Given the description of an element on the screen output the (x, y) to click on. 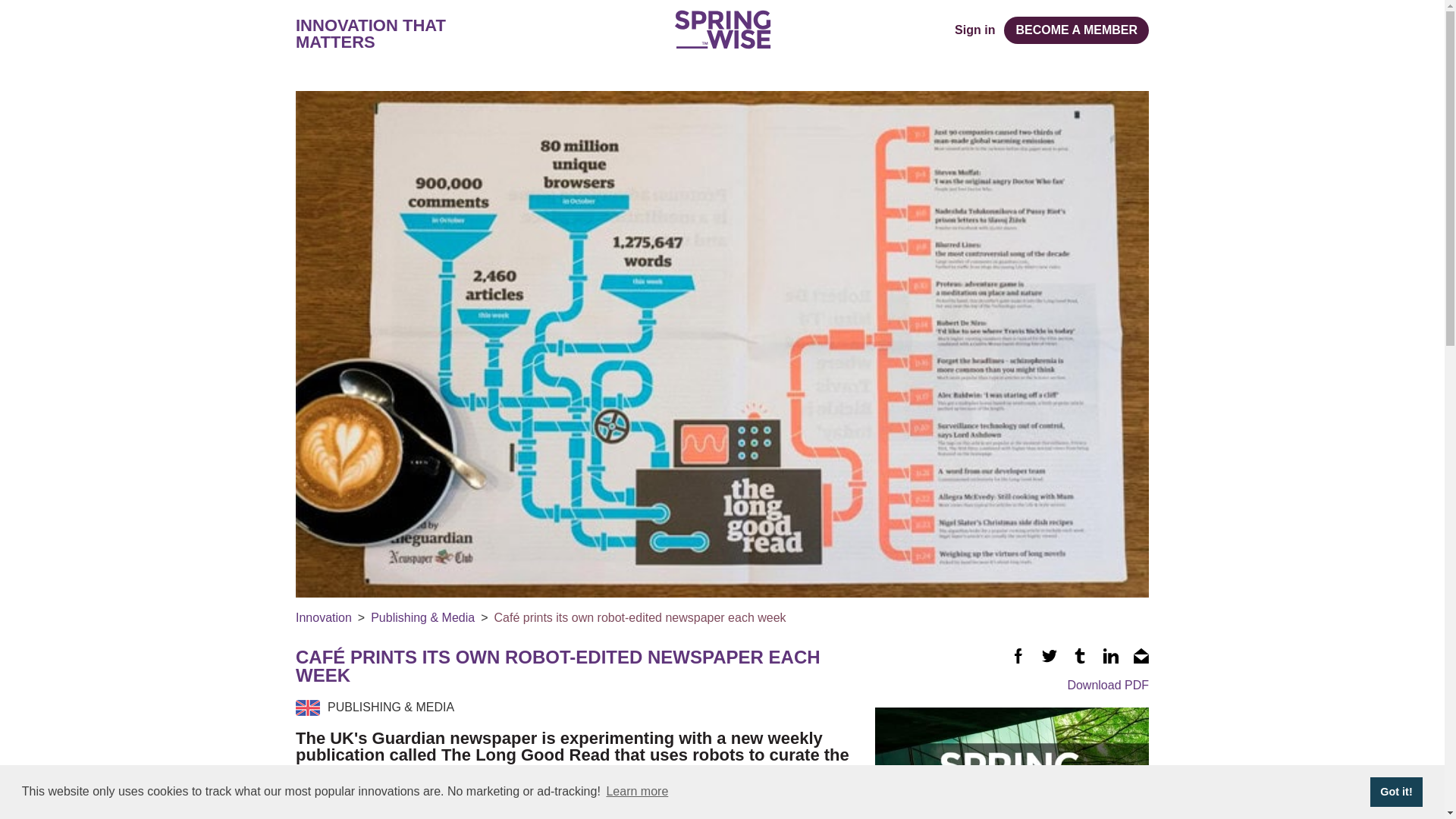
Twitter (1049, 655)
Tumblr (1079, 655)
Got it! (1396, 791)
Innovation (323, 617)
Home (721, 29)
BECOME A MEMBER (1076, 30)
Linked In (1110, 655)
Facebook (1018, 655)
Download PDF (1011, 685)
Email (1141, 655)
Learn more (636, 791)
Springwise (721, 29)
Sign in (974, 30)
